Given the description of an element on the screen output the (x, y) to click on. 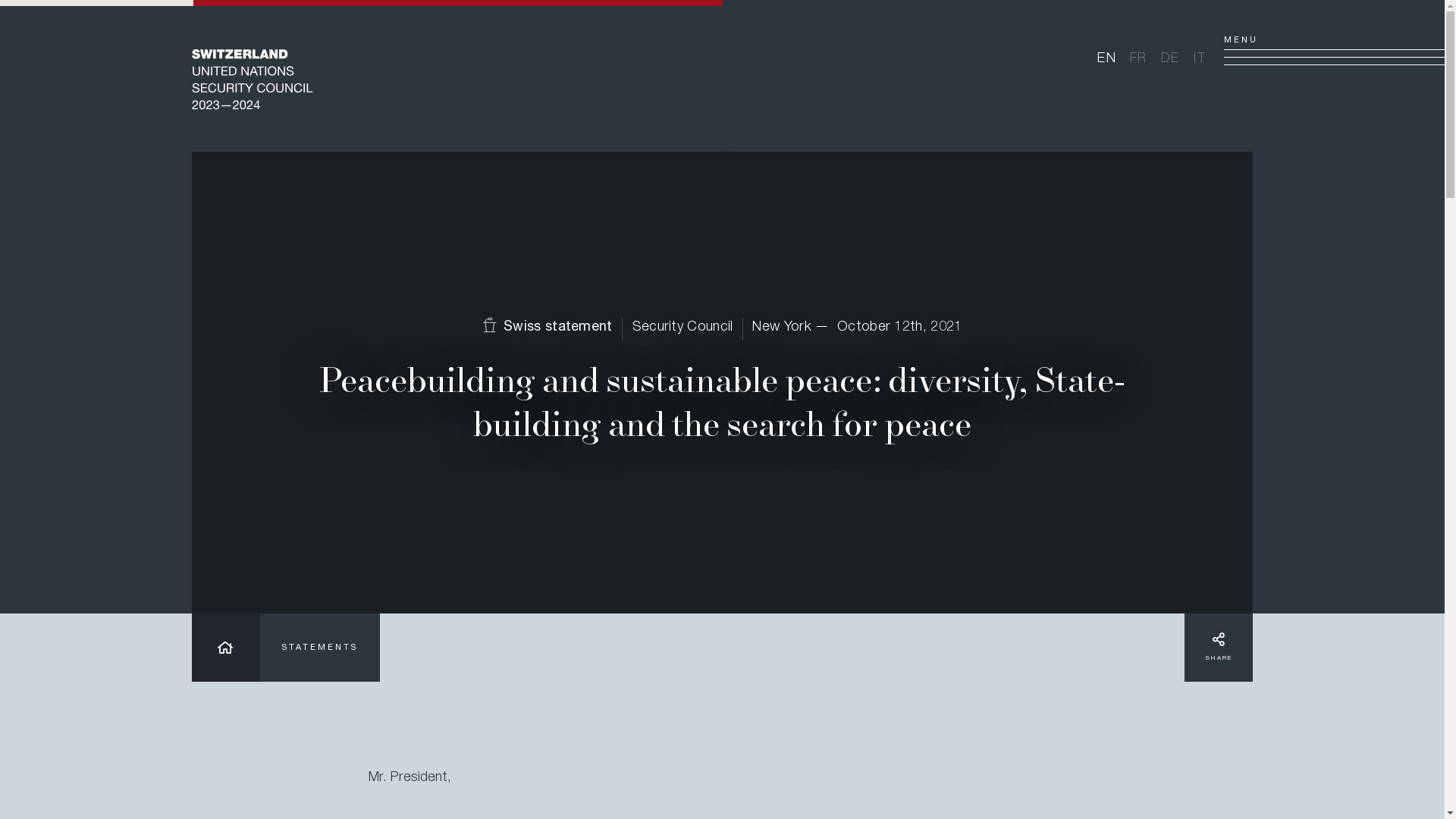
FR Element type: text (1138, 58)
IT Element type: text (1198, 58)
EN Element type: text (1106, 58)
Skip to main content Element type: text (0, 151)
DE Element type: text (1170, 58)
STATEMENTS Element type: text (319, 647)
